Given the description of an element on the screen output the (x, y) to click on. 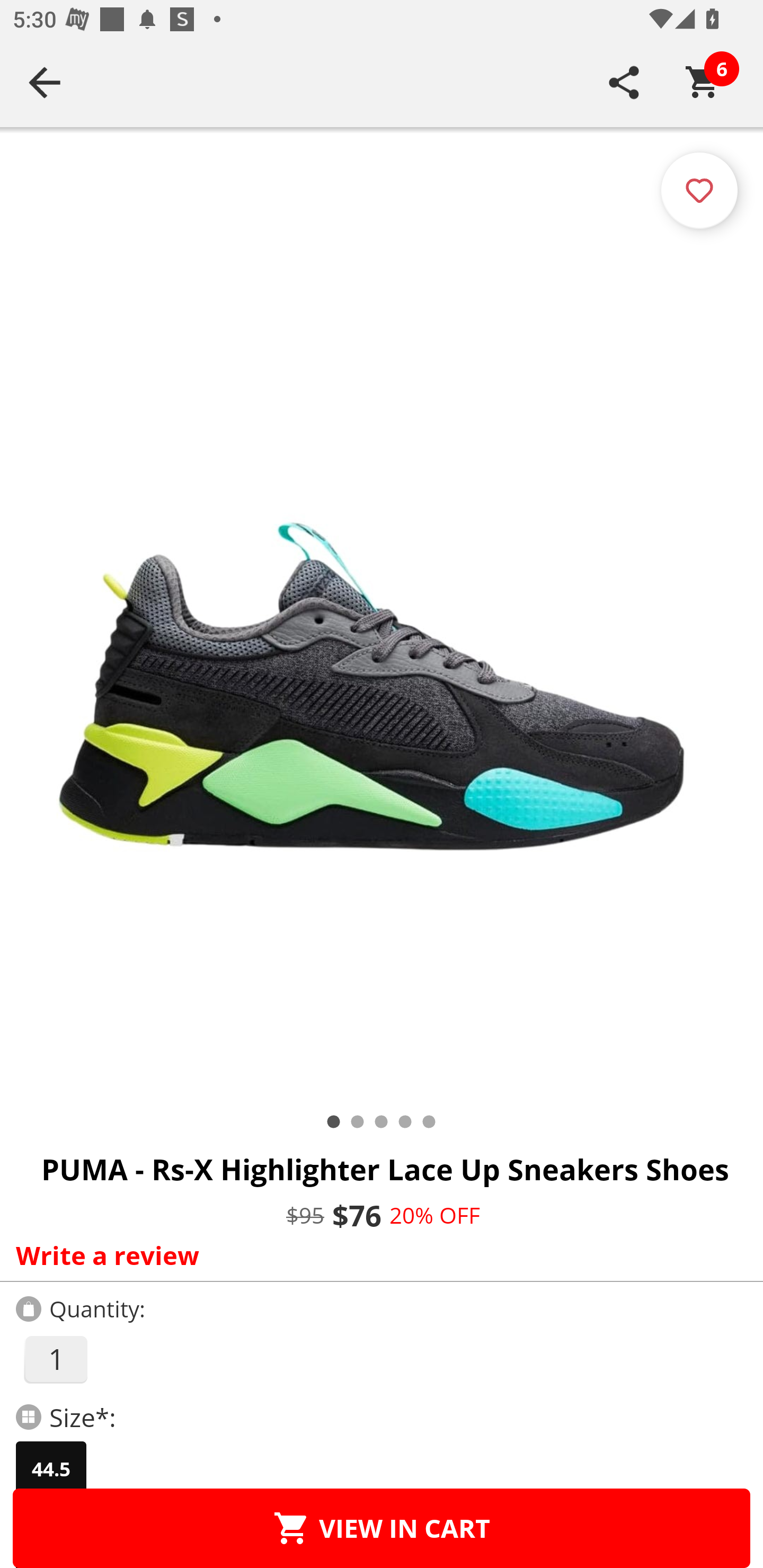
Navigate up (44, 82)
SHARE (623, 82)
Cart (703, 81)
Write a review (377, 1255)
1 (55, 1358)
44.5 (51, 1468)
VIEW IN CART (381, 1528)
